Given the description of an element on the screen output the (x, y) to click on. 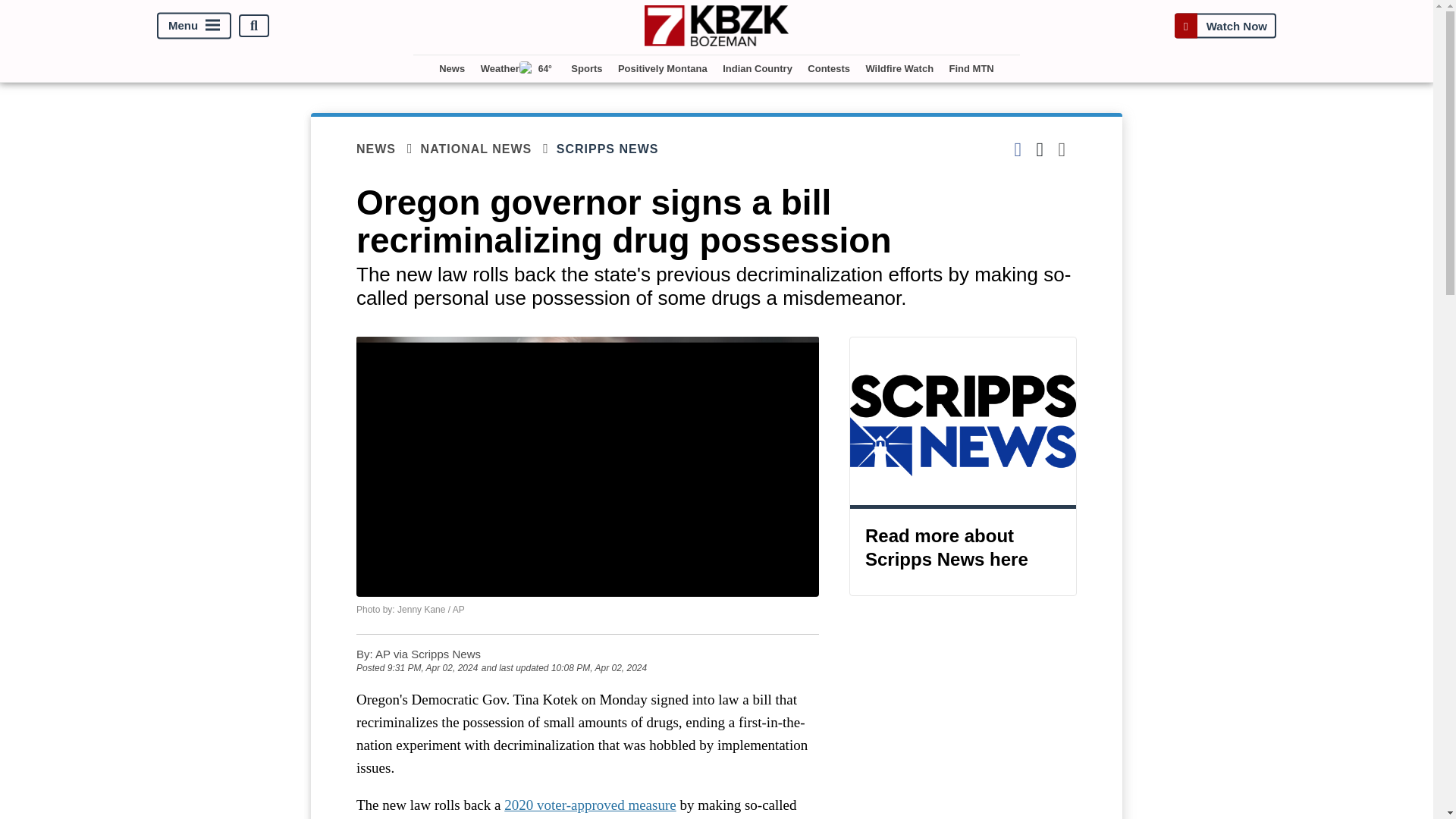
Menu (194, 26)
Watch Now (1224, 25)
